Given the description of an element on the screen output the (x, y) to click on. 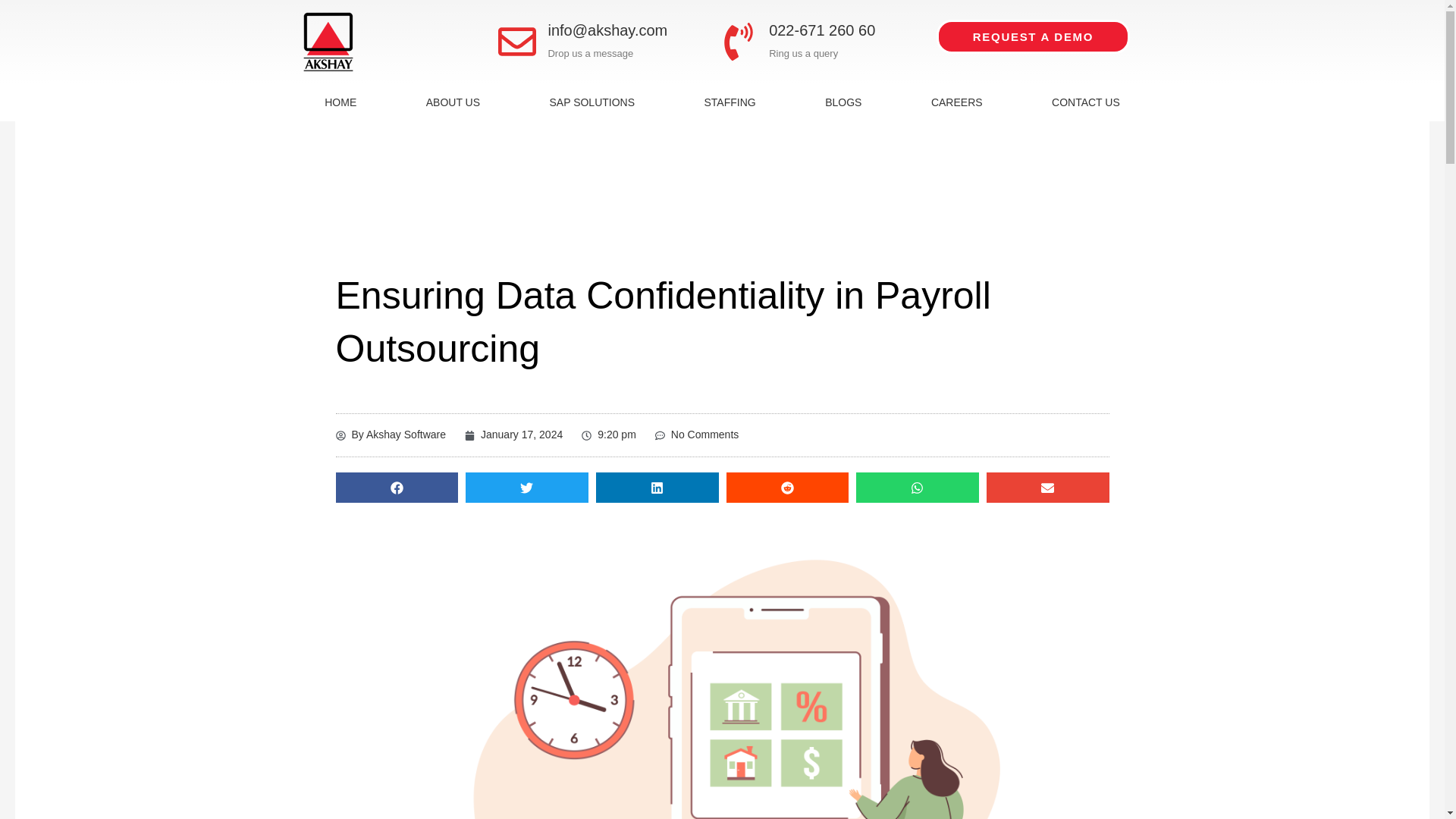
CAREERS (956, 102)
CONTACT US (1085, 102)
022-671 260 60 (821, 30)
STAFFING (729, 102)
ABOUT US (453, 102)
SAP SOLUTIONS (592, 102)
HOME (339, 102)
BLOGS (843, 102)
REQUEST A DEMO (1032, 36)
